Given the description of an element on the screen output the (x, y) to click on. 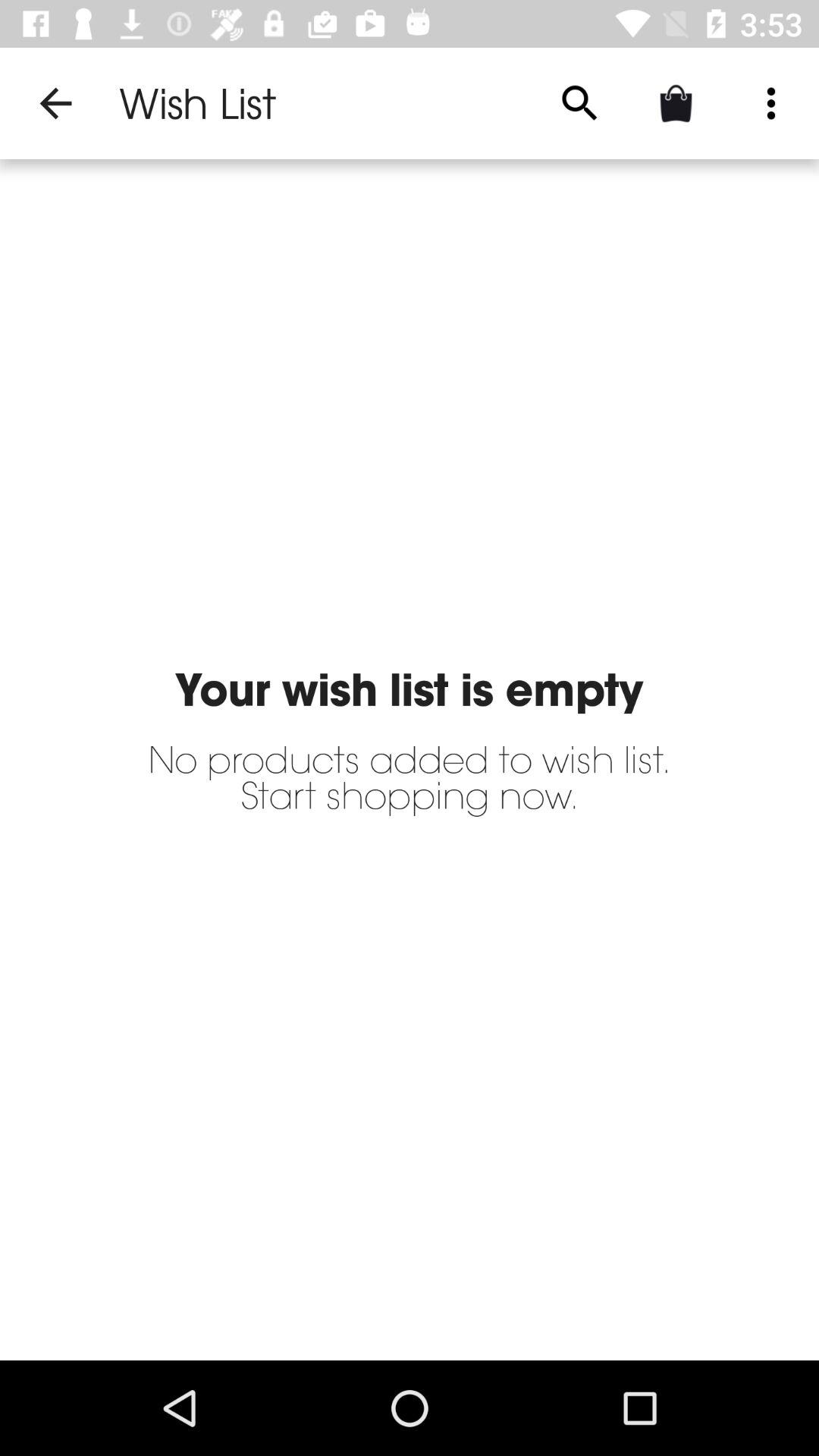
press the icon above the your wish list item (579, 103)
